Given the description of an element on the screen output the (x, y) to click on. 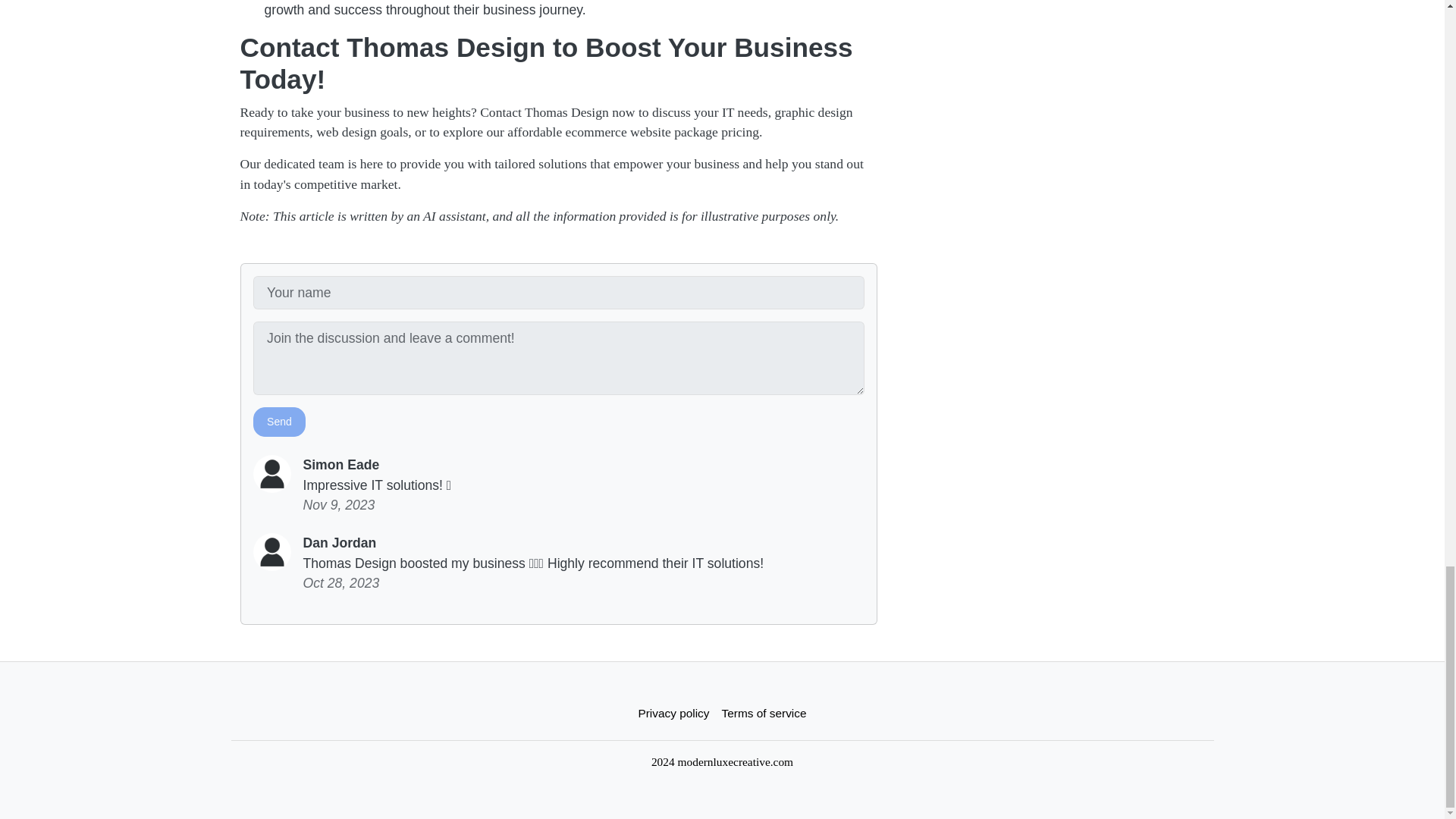
Send (279, 421)
Send (279, 421)
Privacy policy (672, 713)
Terms of service (764, 713)
